Given the description of an element on the screen output the (x, y) to click on. 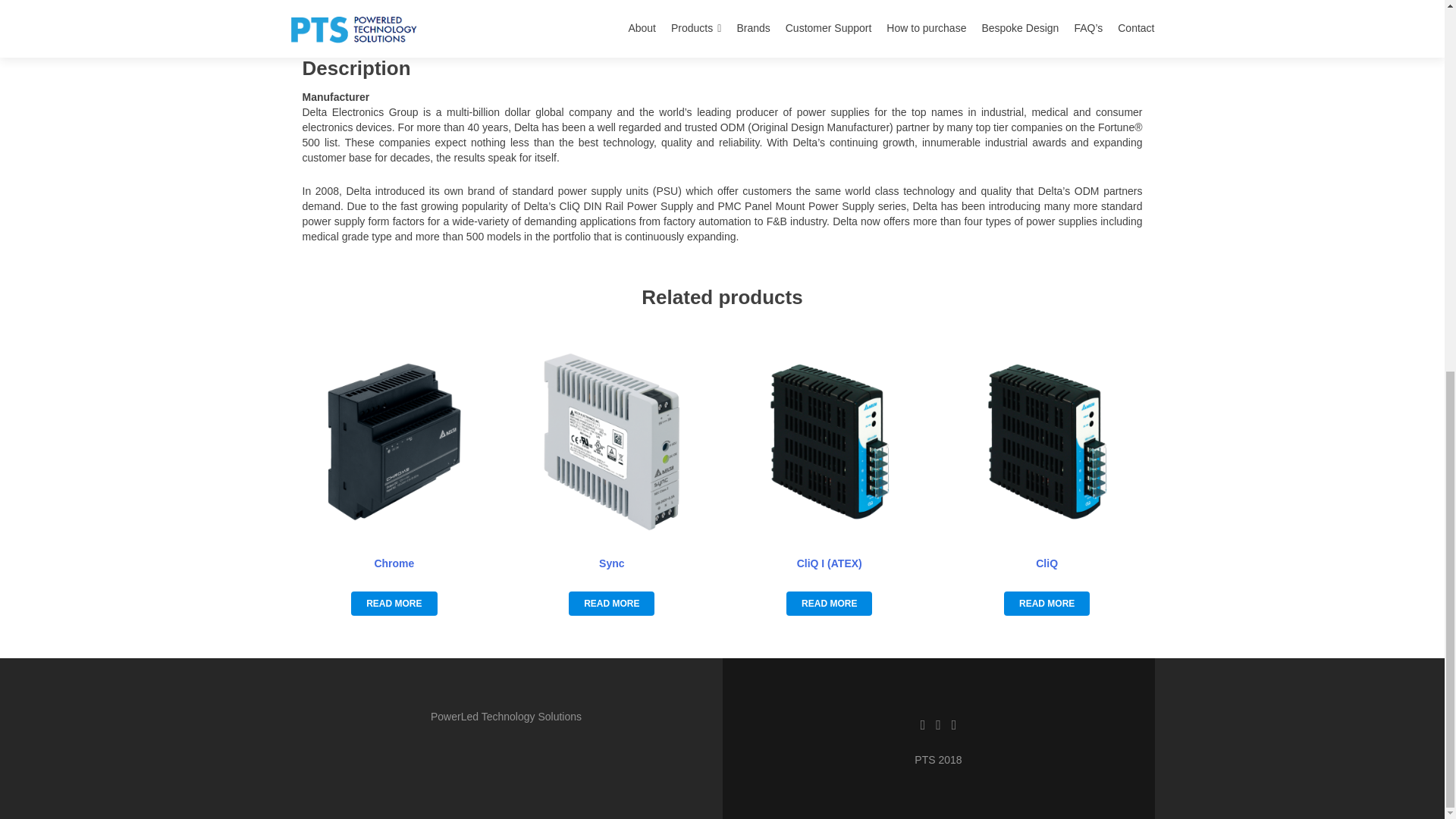
Description (544, 19)
READ MORE (393, 603)
Products in series (657, 19)
Make an enquiry (883, 19)
Certification (773, 19)
READ MORE (611, 603)
READ MORE (829, 603)
